Given the description of an element on the screen output the (x, y) to click on. 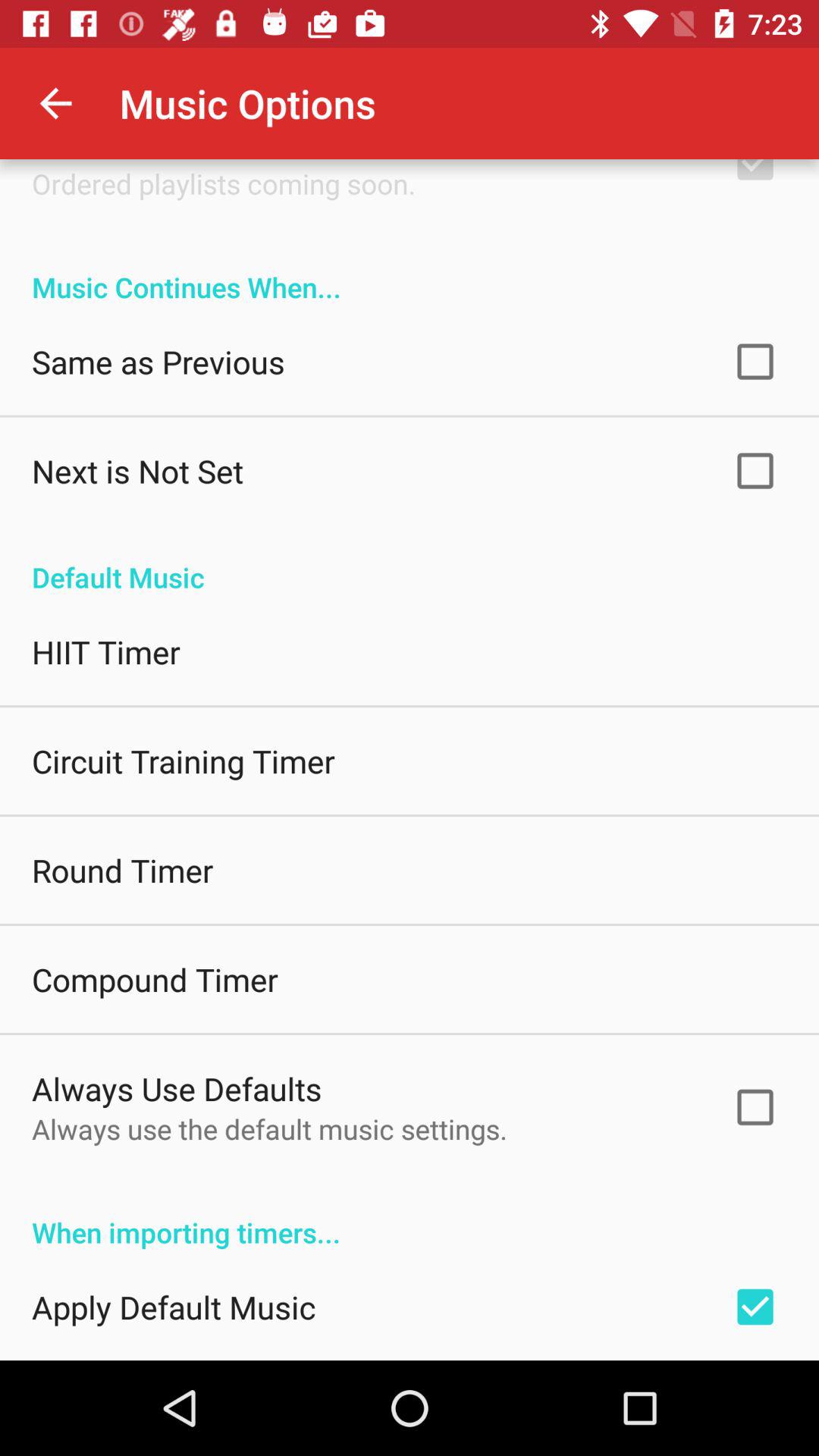
turn off when importing timers... (409, 1216)
